Given the description of an element on the screen output the (x, y) to click on. 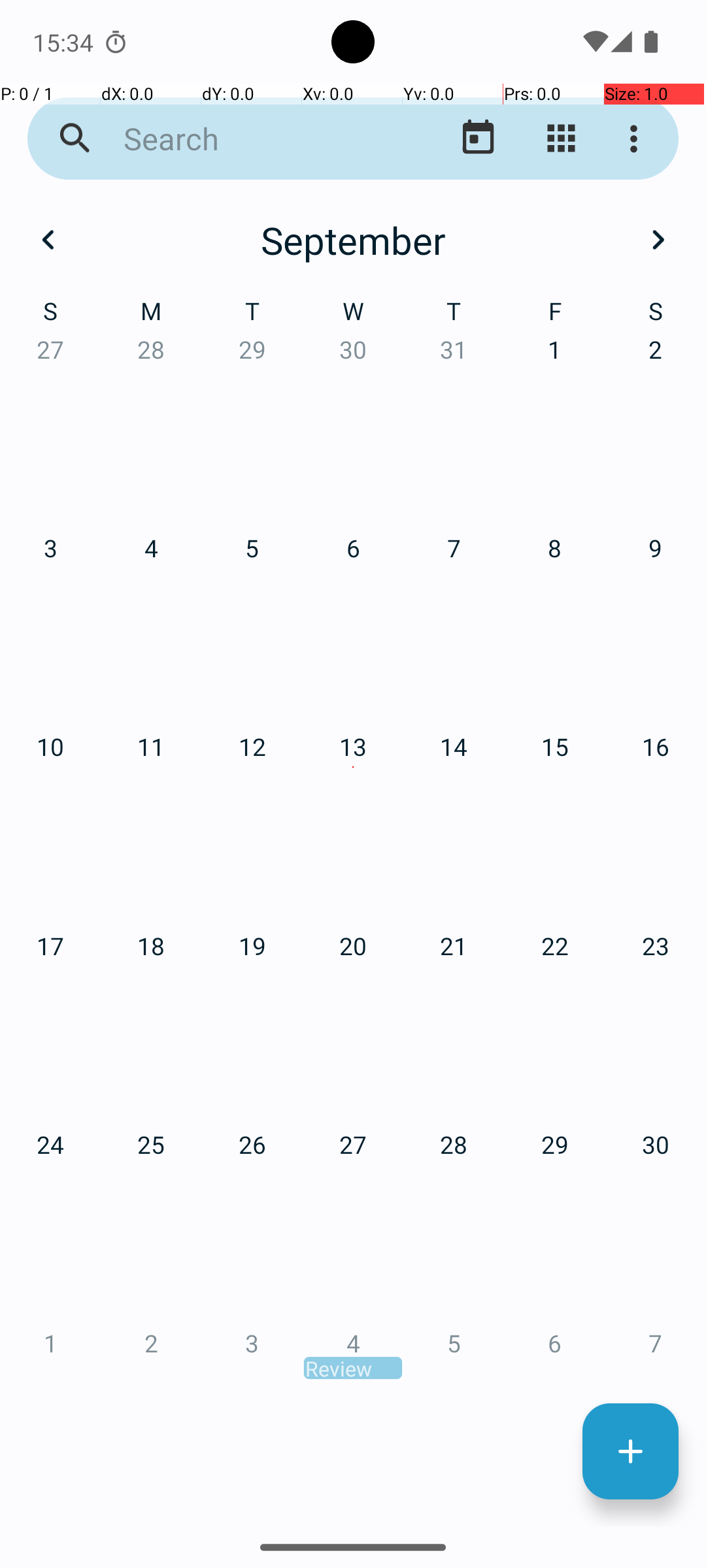
September Element type: android.widget.TextView (352, 239)
